Given the description of an element on the screen output the (x, y) to click on. 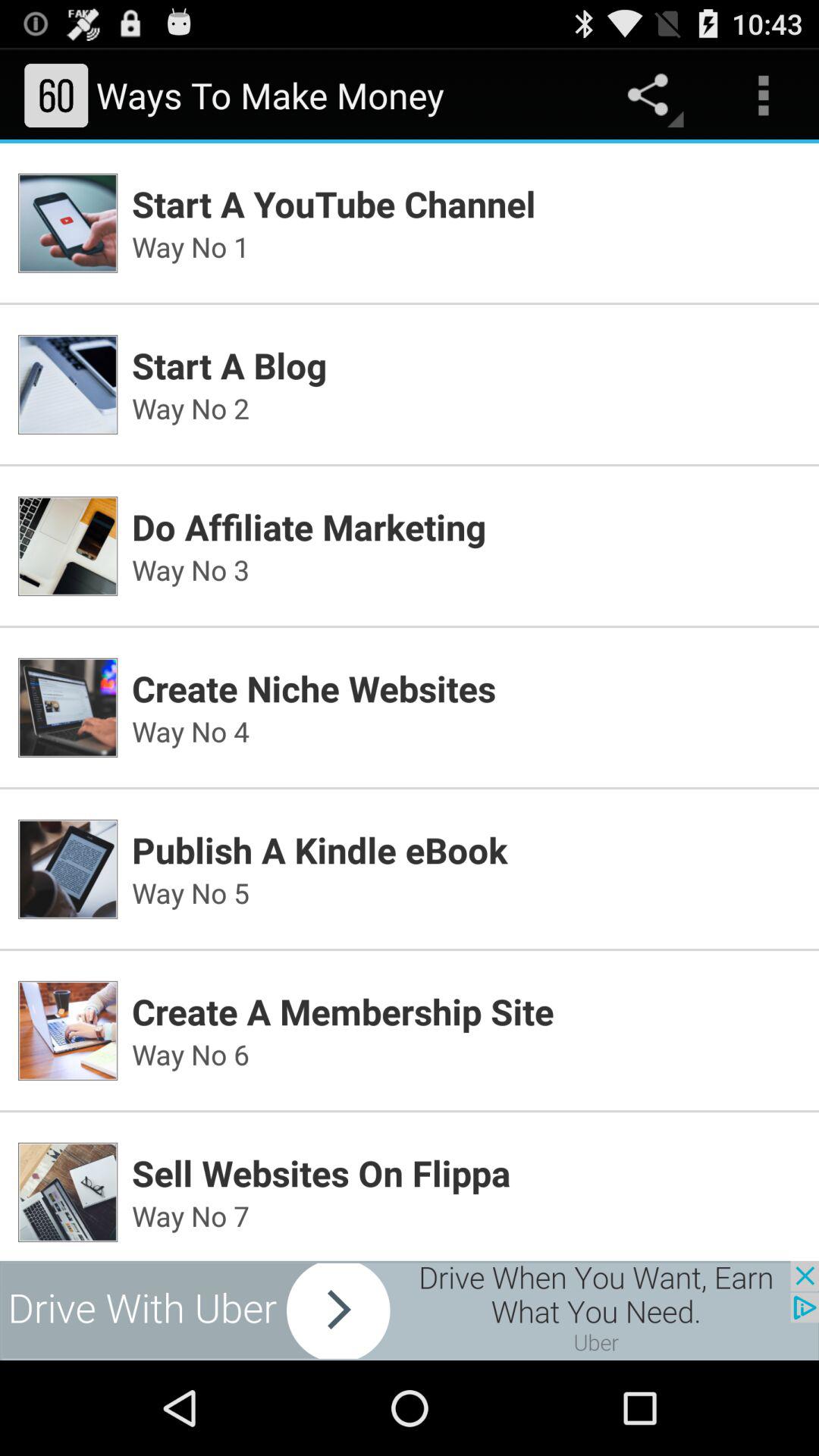
share the article (409, 1310)
